Given the description of an element on the screen output the (x, y) to click on. 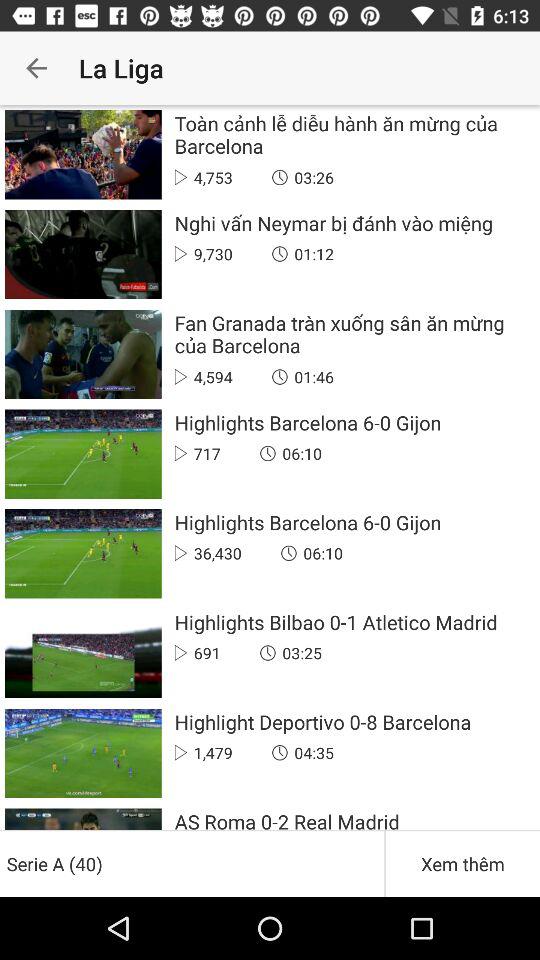
press app next to the la liga (36, 68)
